Given the description of an element on the screen output the (x, y) to click on. 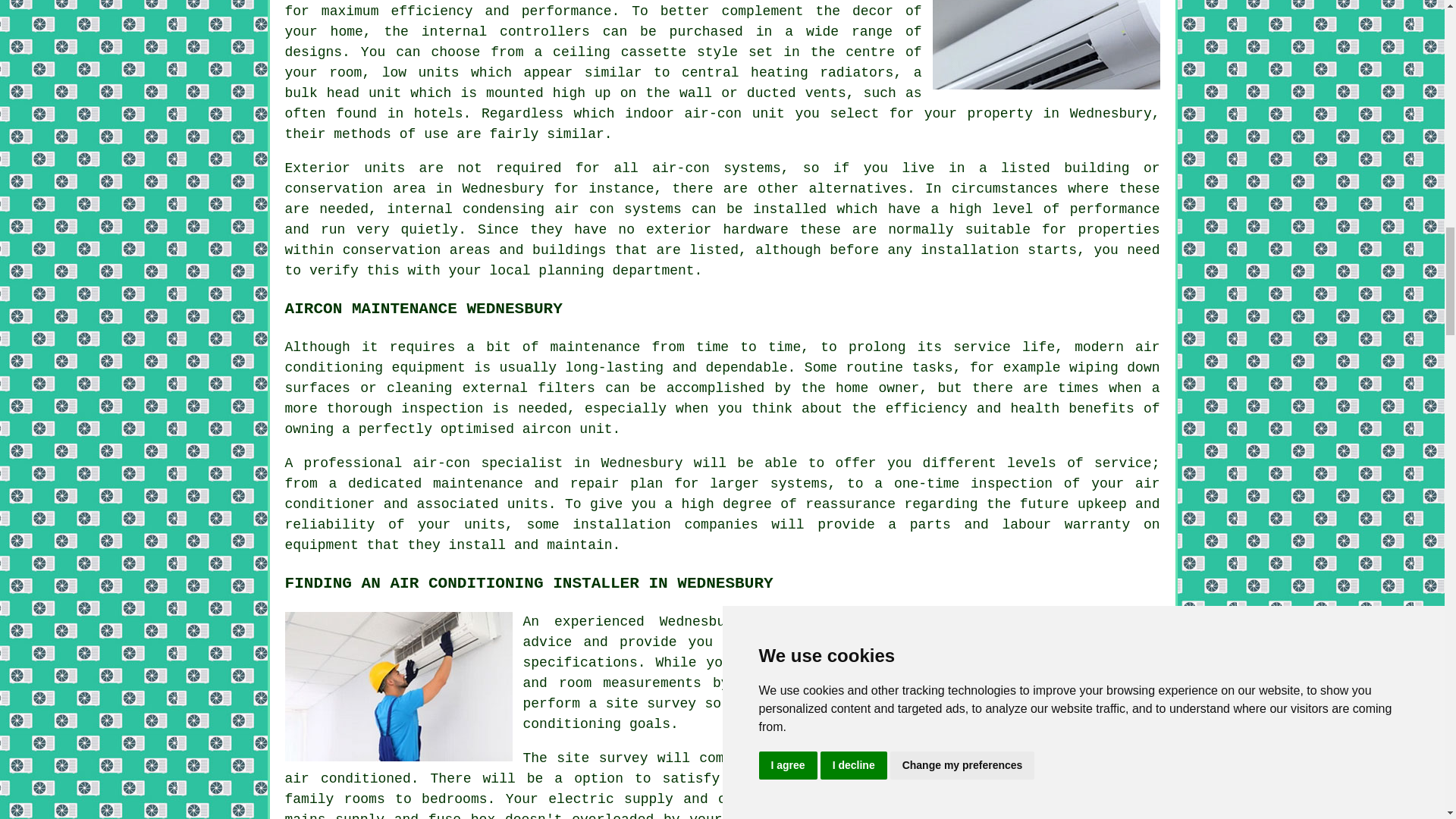
Air Conditioning Near Wednesbury West Midlands (1046, 44)
air conditioning (826, 621)
installation (969, 249)
levels of service (1079, 462)
